Given the description of an element on the screen output the (x, y) to click on. 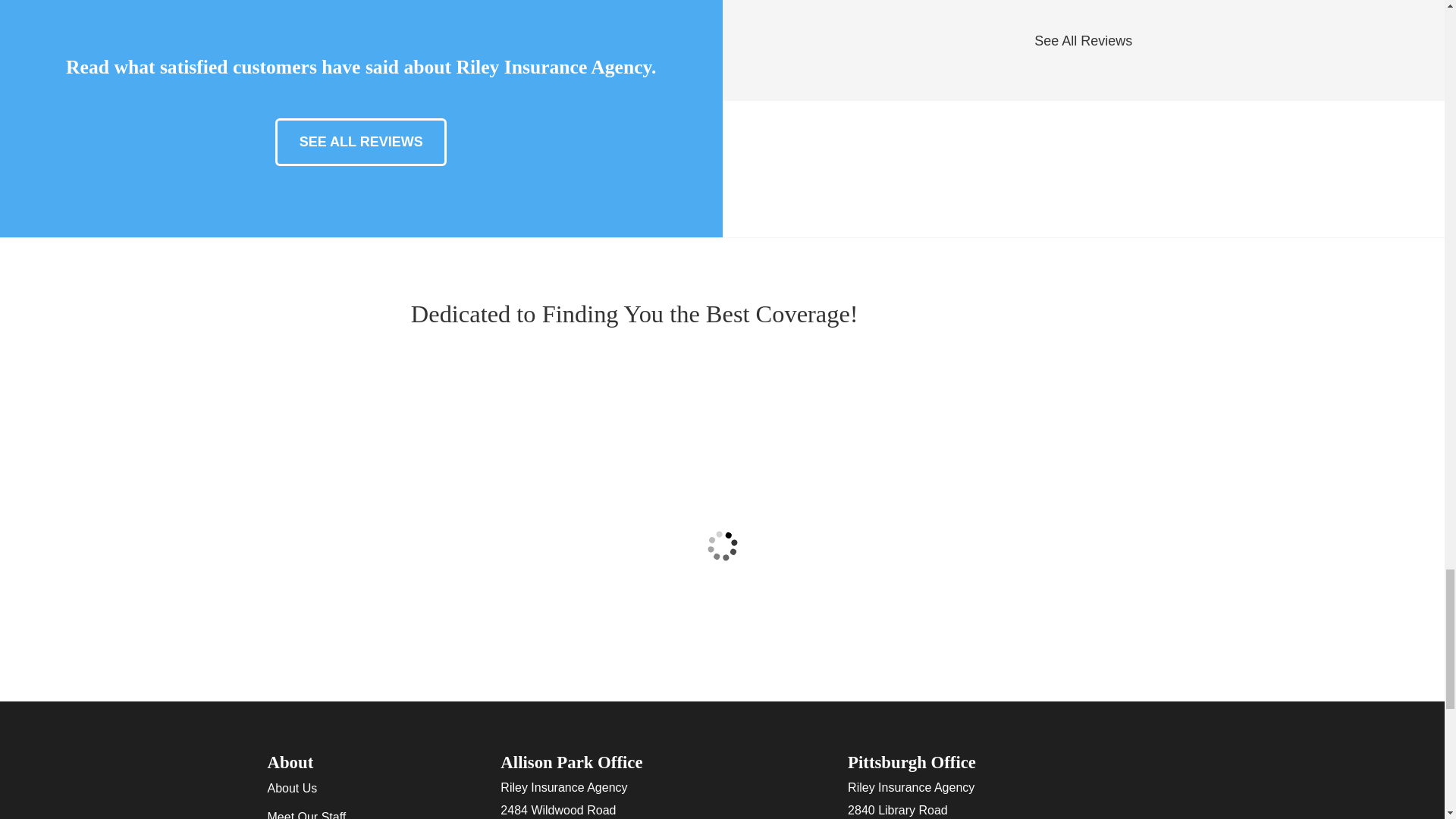
Riley Insurance Agency (957, 314)
